Given the description of an element on the screen output the (x, y) to click on. 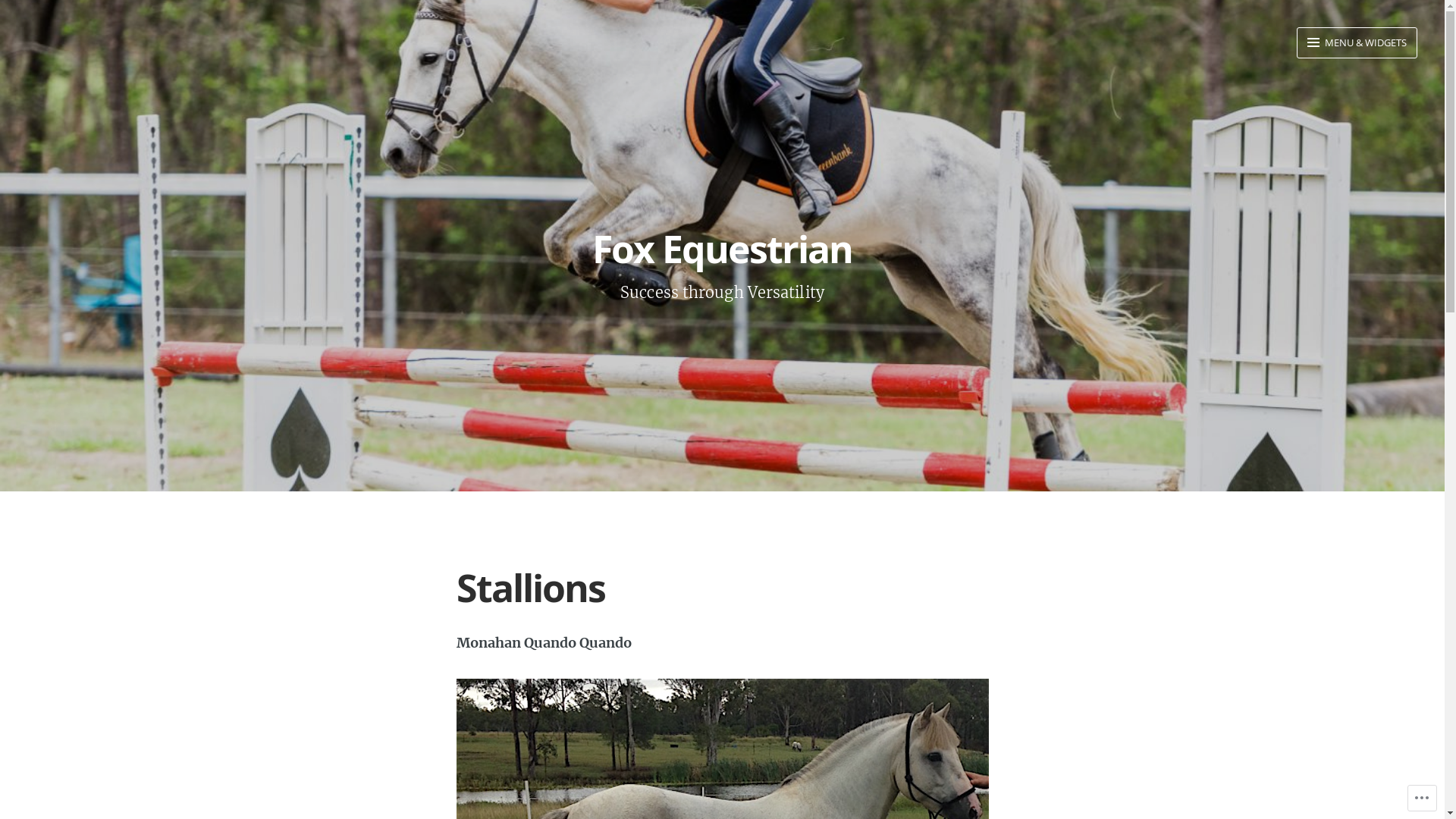
Fox Equestrian Element type: text (722, 248)
Search Element type: text (28, 15)
MENU & WIDGETS Element type: text (1356, 42)
